Given the description of an element on the screen output the (x, y) to click on. 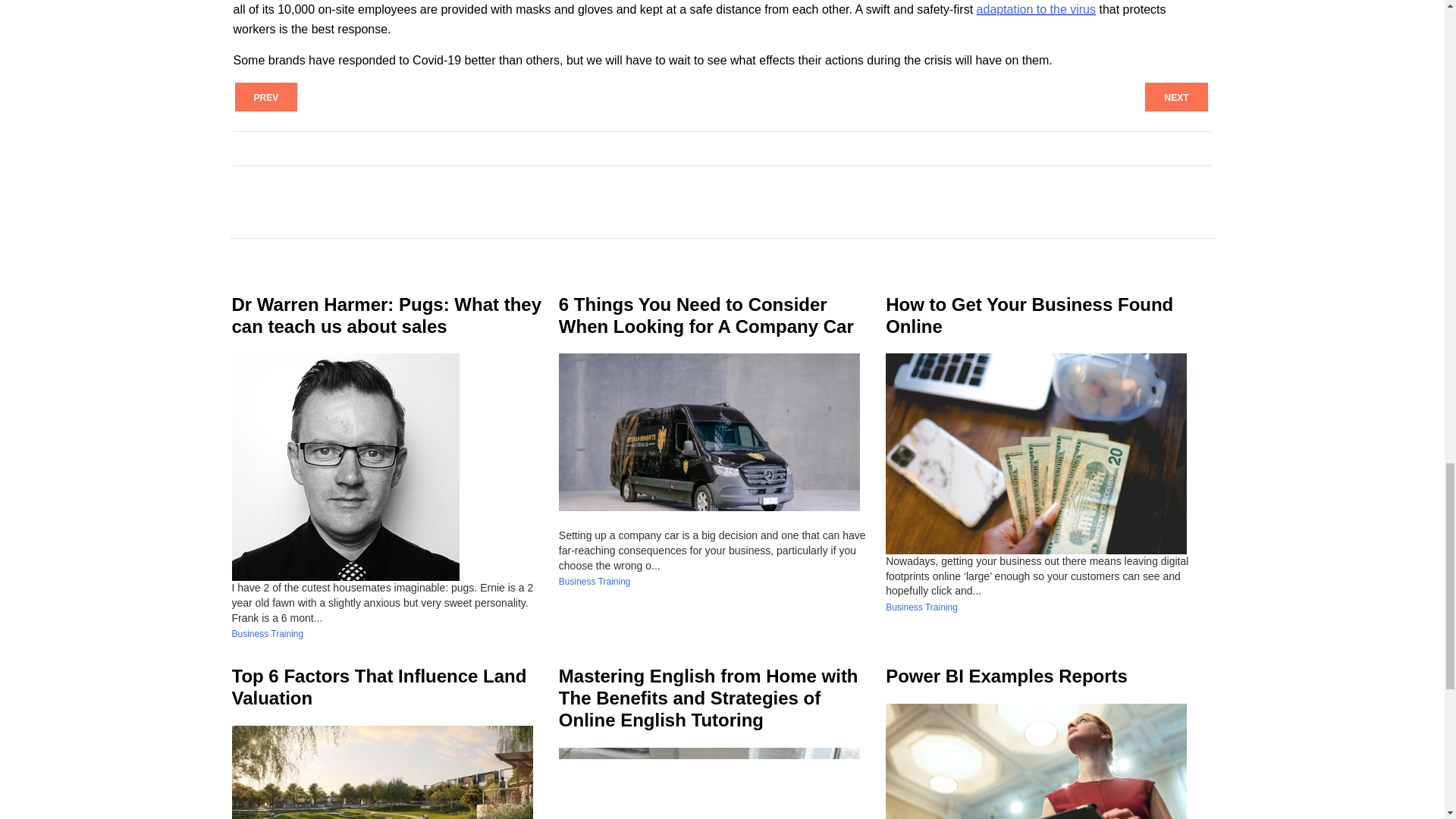
Top 6 Factors That Influence Land Valuation (379, 686)
Dr Warren Harmer: Pugs: What they can teach us about sales (386, 315)
adaptation to the virus (1036, 9)
NEXT (1175, 96)
How to Get Your Business Found Online (1029, 315)
6 Things You Need to Consider When Looking for A Company Car (706, 315)
Top 6 Factors That Influence Land Valuation (379, 686)
Dr Warren Harmer: Pugs: What they can teach us about sales (386, 315)
How to Get Your Business Found Online (1029, 315)
Business Training (594, 581)
PREV (266, 96)
Business Training (921, 606)
Business Training (267, 633)
